Given the description of an element on the screen output the (x, y) to click on. 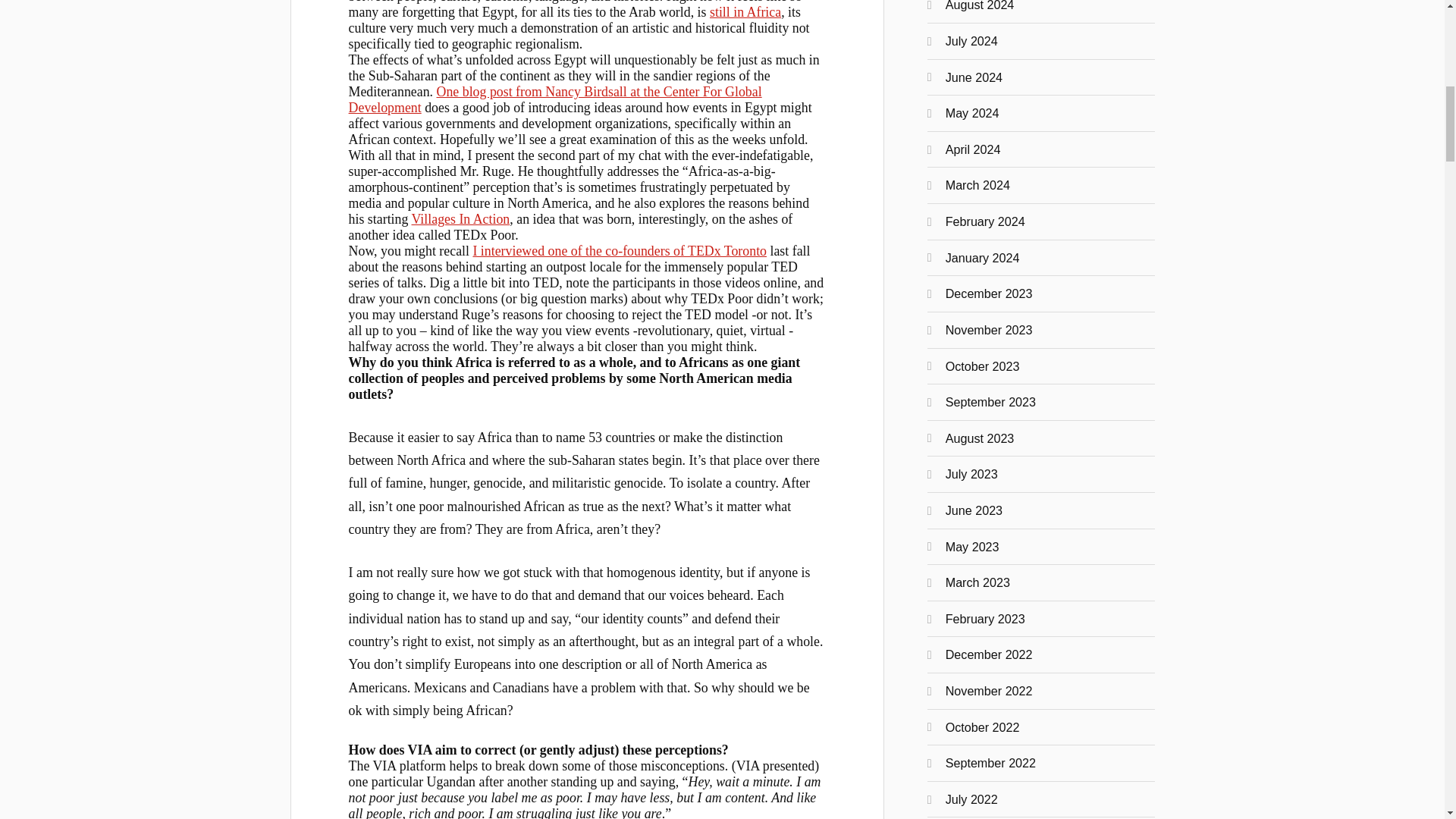
I interviewed one of the co-founders of TEDx Toronto (619, 250)
August 2024 (979, 5)
June 2024 (973, 77)
Villages In Action (461, 218)
still in Africa (745, 11)
July 2024 (970, 40)
